Given the description of an element on the screen output the (x, y) to click on. 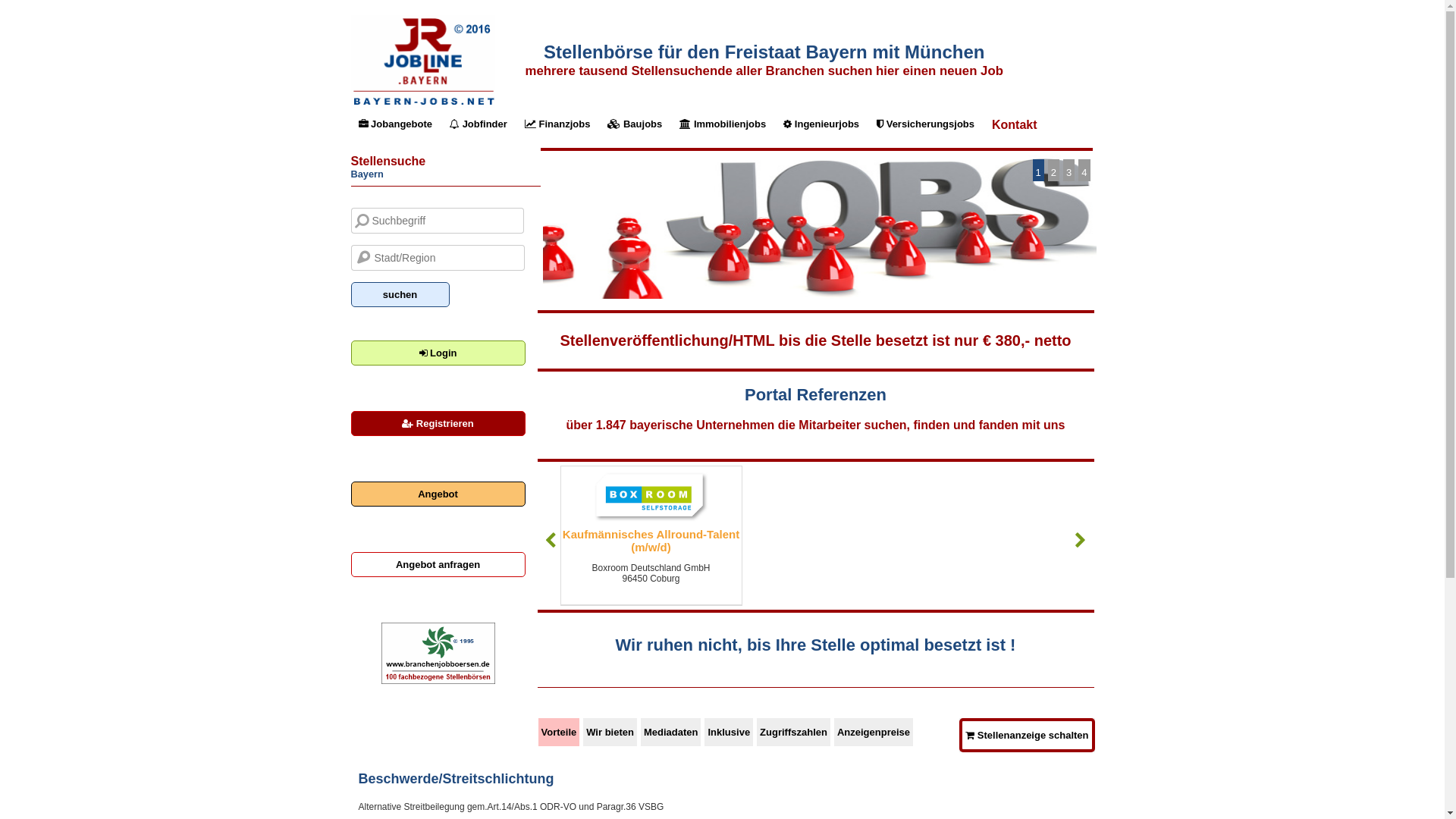
Ingenieurjobs Element type: text (822, 123)
1 Element type: text (1038, 170)
3 Element type: text (1068, 170)
Zugriffszahlen Element type: text (795, 732)
2 Element type: text (1053, 170)
4 Element type: text (1083, 170)
Finanzjobs Element type: text (559, 123)
Vorteile Element type: text (560, 732)
Versicherungsjobs Element type: text (927, 123)
Jobangebote Element type: text (397, 123)
Baujobs Element type: text (636, 123)
Wir bieten Element type: text (611, 732)
Immobilienjobs Element type: text (724, 123)
Login Element type: text (437, 352)
suchen Element type: text (399, 294)
Jobline.bayern Element type: hover (422, 105)
Kontakt Element type: text (1016, 124)
Angebot anfragen Element type: text (437, 564)
Stellenanzeige schalten Element type: text (1026, 735)
Jobfinder Element type: text (479, 123)
Angebot Element type: text (437, 493)
Mediadaten Element type: text (672, 732)
Registrieren Element type: text (437, 423)
Inklusive Element type: text (730, 732)
Anzeigenpreise Element type: text (875, 732)
